Given the description of an element on the screen output the (x, y) to click on. 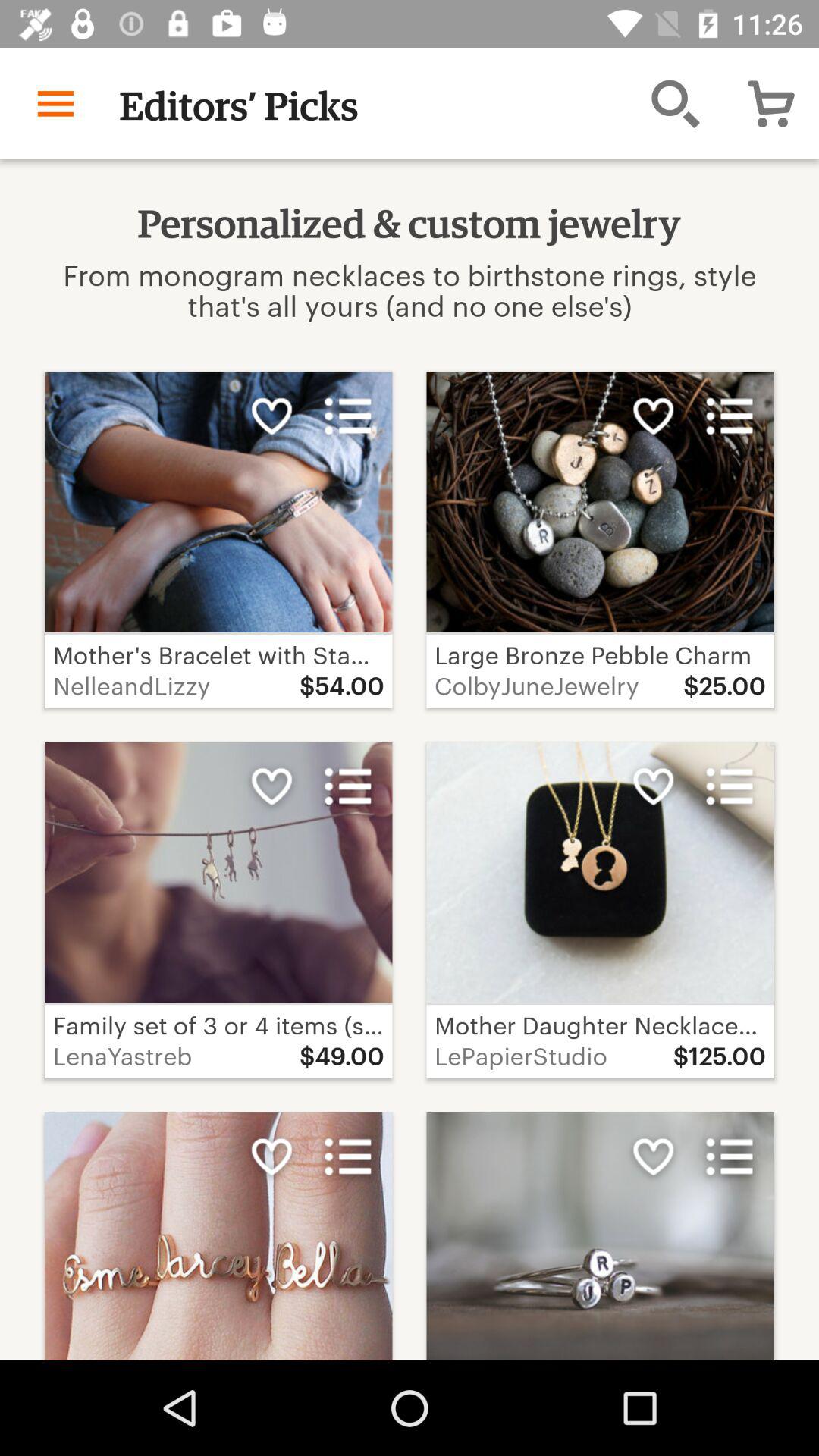
select the icon above the personalized & custom jewelry item (675, 103)
